Given the description of an element on the screen output the (x, y) to click on. 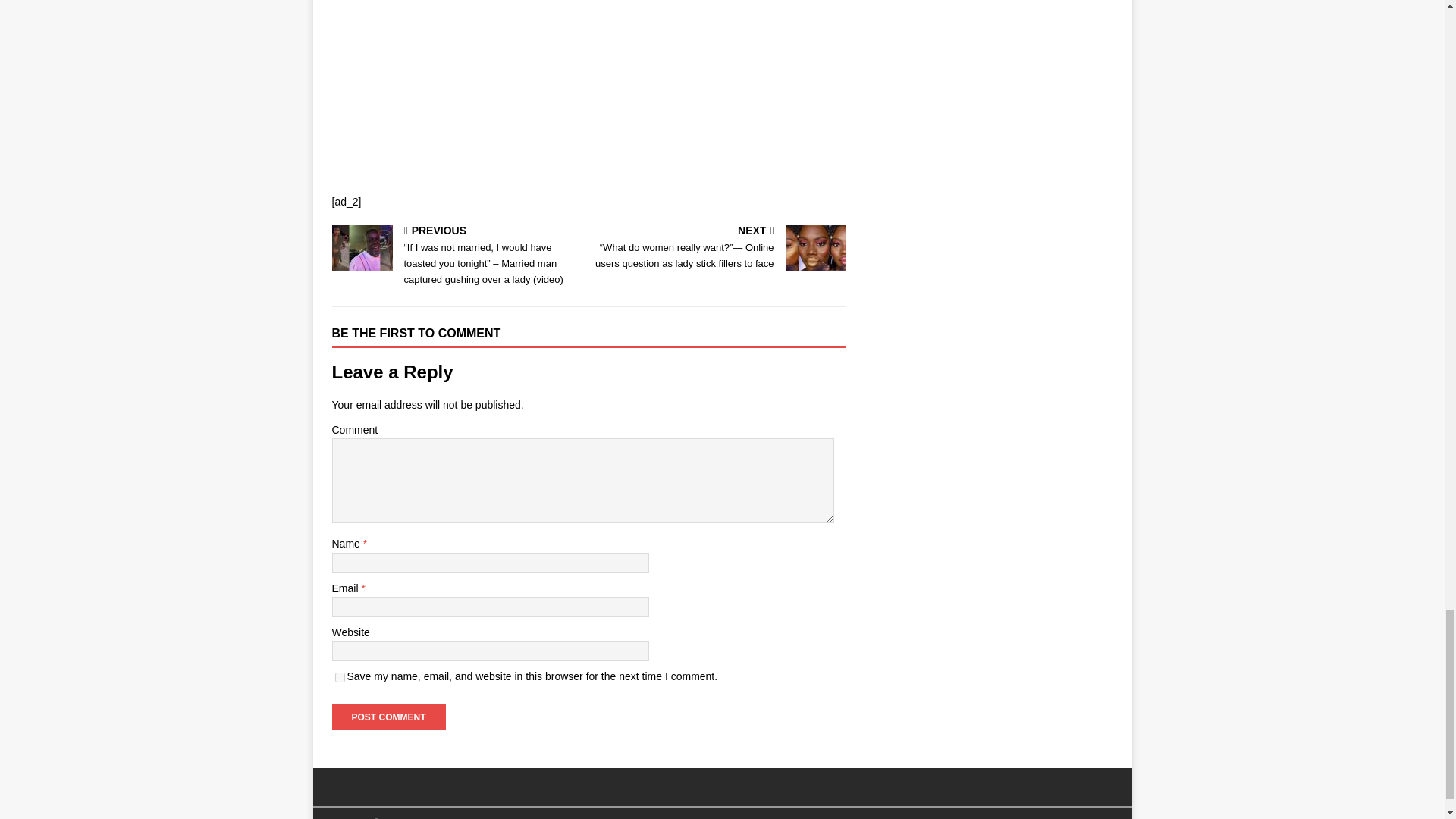
Post Comment (388, 717)
Post Comment (388, 717)
VideoPress Video Player (443, 69)
yes (339, 677)
